Given the description of an element on the screen output the (x, y) to click on. 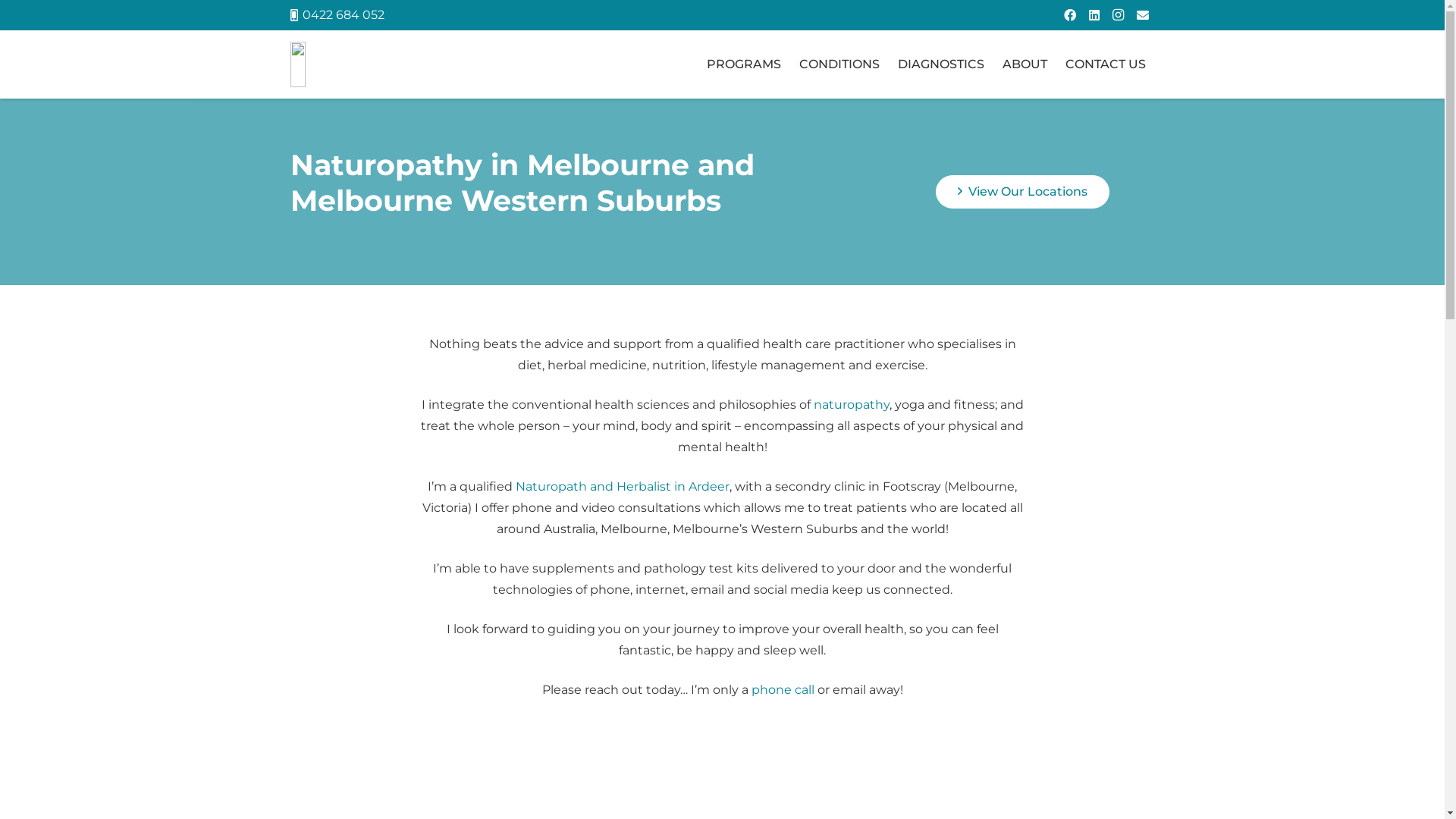
PROGRAMS Element type: text (743, 64)
DIAGNOSTICS Element type: text (940, 64)
phone call Element type: text (781, 689)
CONDITIONS Element type: text (839, 64)
naturopathy Element type: text (850, 404)
Naturopath and Herbalist in Ardeer Element type: text (622, 486)
Facebook Element type: hover (1069, 15)
View Our Locations Element type: text (1022, 192)
Instagram Element type: hover (1118, 15)
Email Element type: hover (1142, 15)
CONTACT US Element type: text (1104, 64)
0422 684 052 Element type: text (336, 14)
ABOUT Element type: text (1024, 64)
LinkedIn Element type: hover (1094, 15)
